Given the description of an element on the screen output the (x, y) to click on. 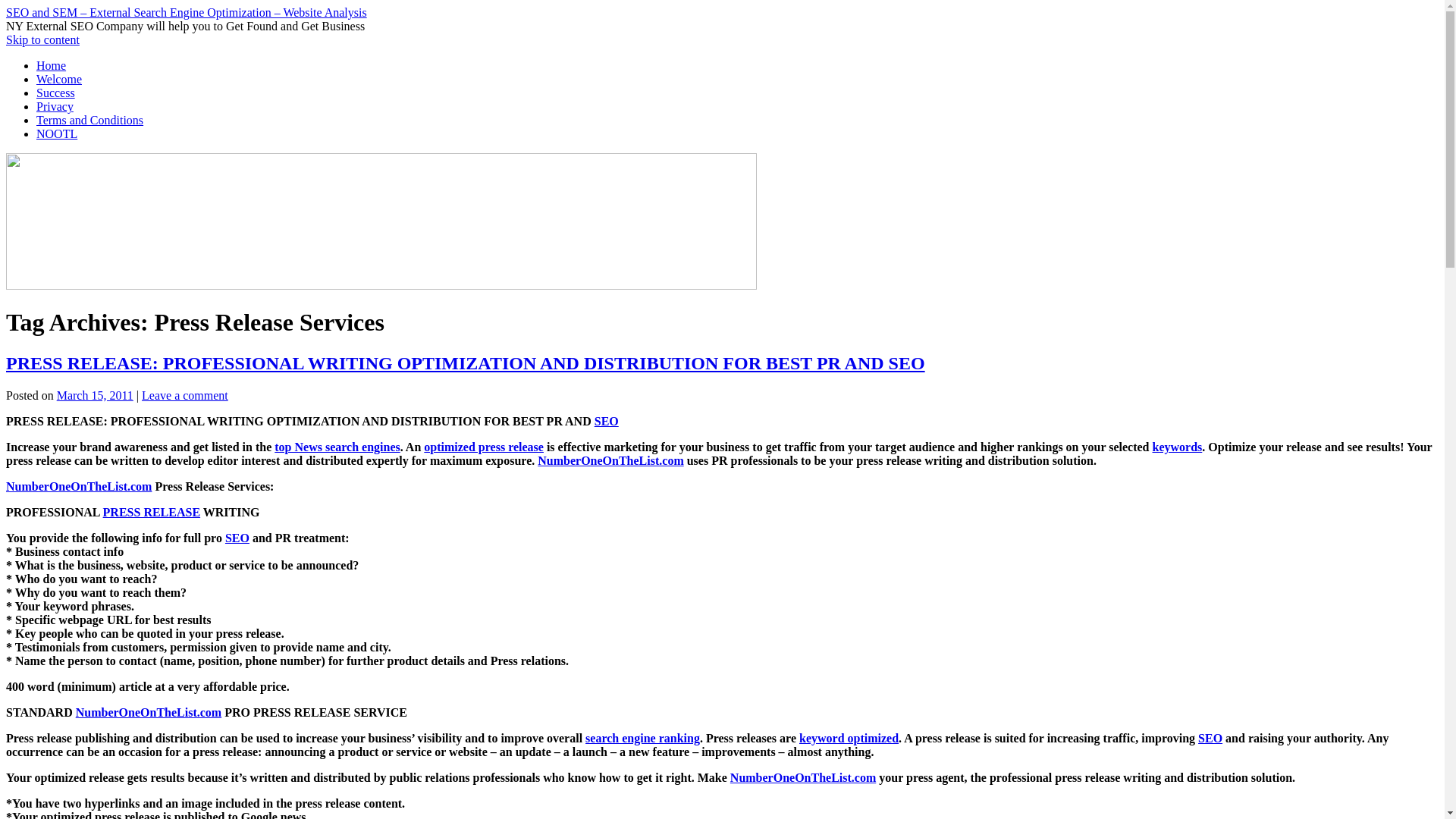
Welcome (58, 78)
PRESS RELEASE (151, 512)
keyword optimized (848, 738)
SEO (1210, 738)
Leave a comment (184, 395)
Skip to content (42, 39)
optimized press release (483, 446)
Home (50, 65)
Terms and Conditions (89, 119)
Skip to content (42, 39)
Privacy (55, 106)
top News search engines (336, 446)
NumberOneOnTheList.com (803, 777)
Success (55, 92)
NumberOneOnTheList.com (148, 712)
